Given the description of an element on the screen output the (x, y) to click on. 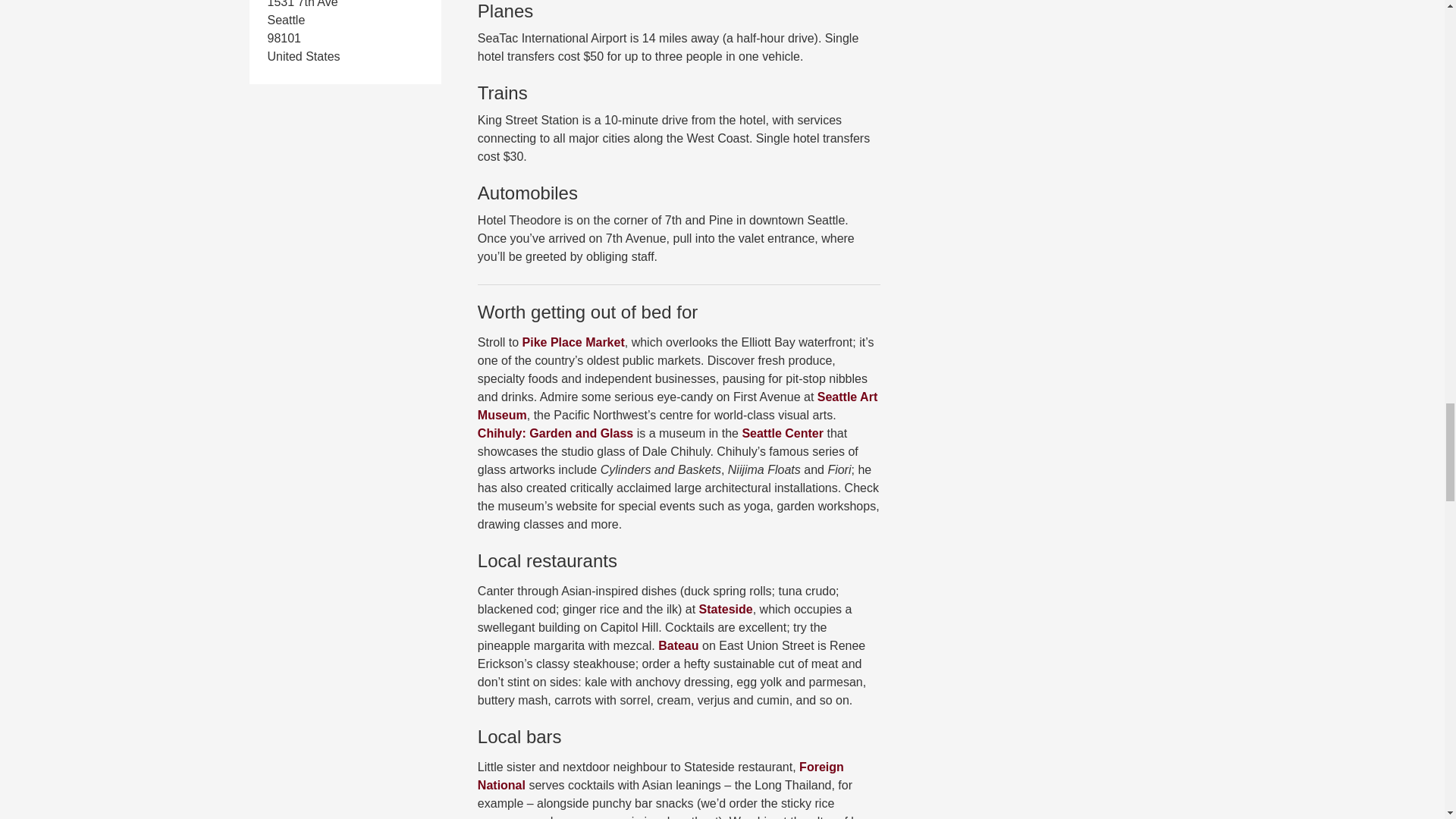
Stateside (725, 608)
Foreign National (660, 775)
Pike Place Market (573, 341)
Seattle Center (782, 432)
Bateau (678, 645)
Seattle Art Museum (677, 405)
Chihuly: Garden and Glass (555, 432)
